Given the description of an element on the screen output the (x, y) to click on. 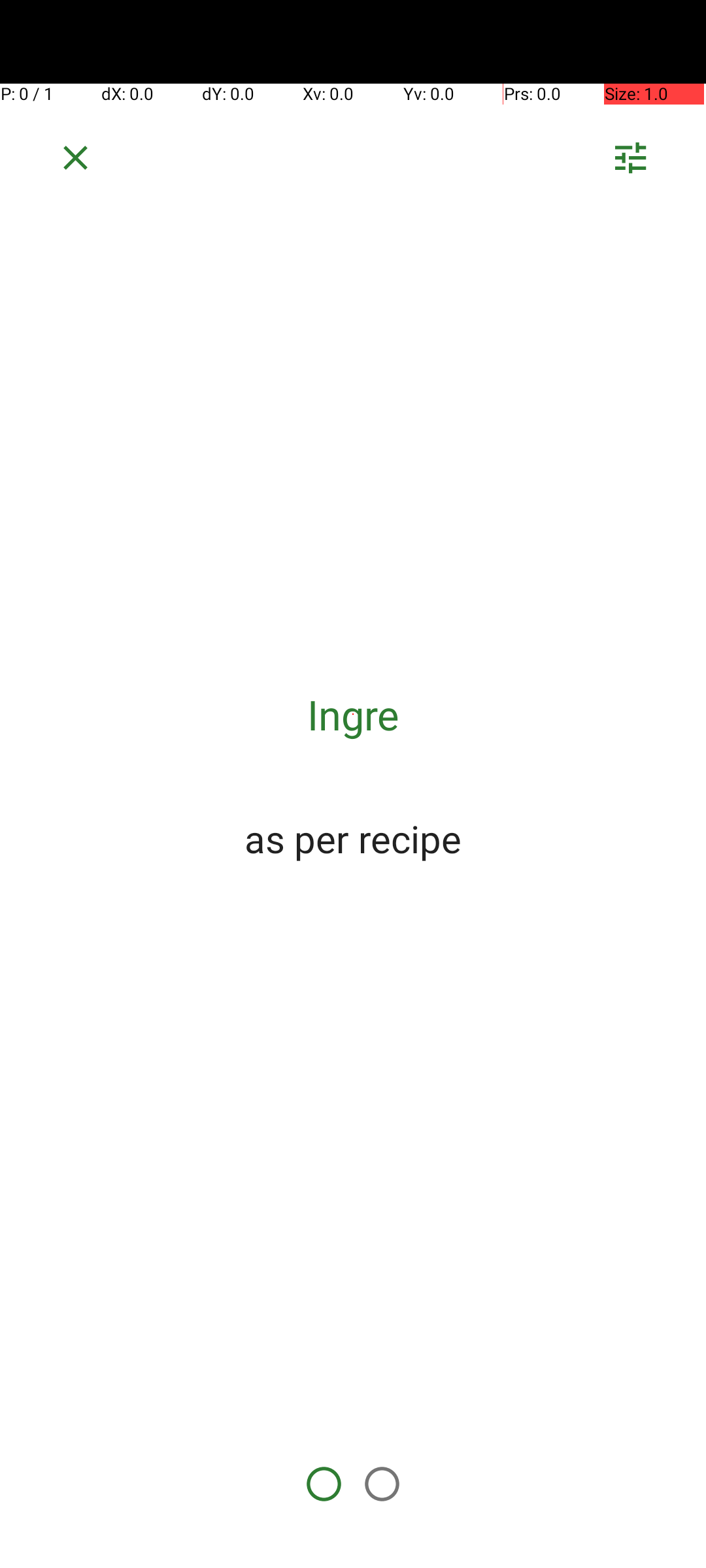
as per recipe Element type: android.widget.TextView (353, 838)
